Given the description of an element on the screen output the (x, y) to click on. 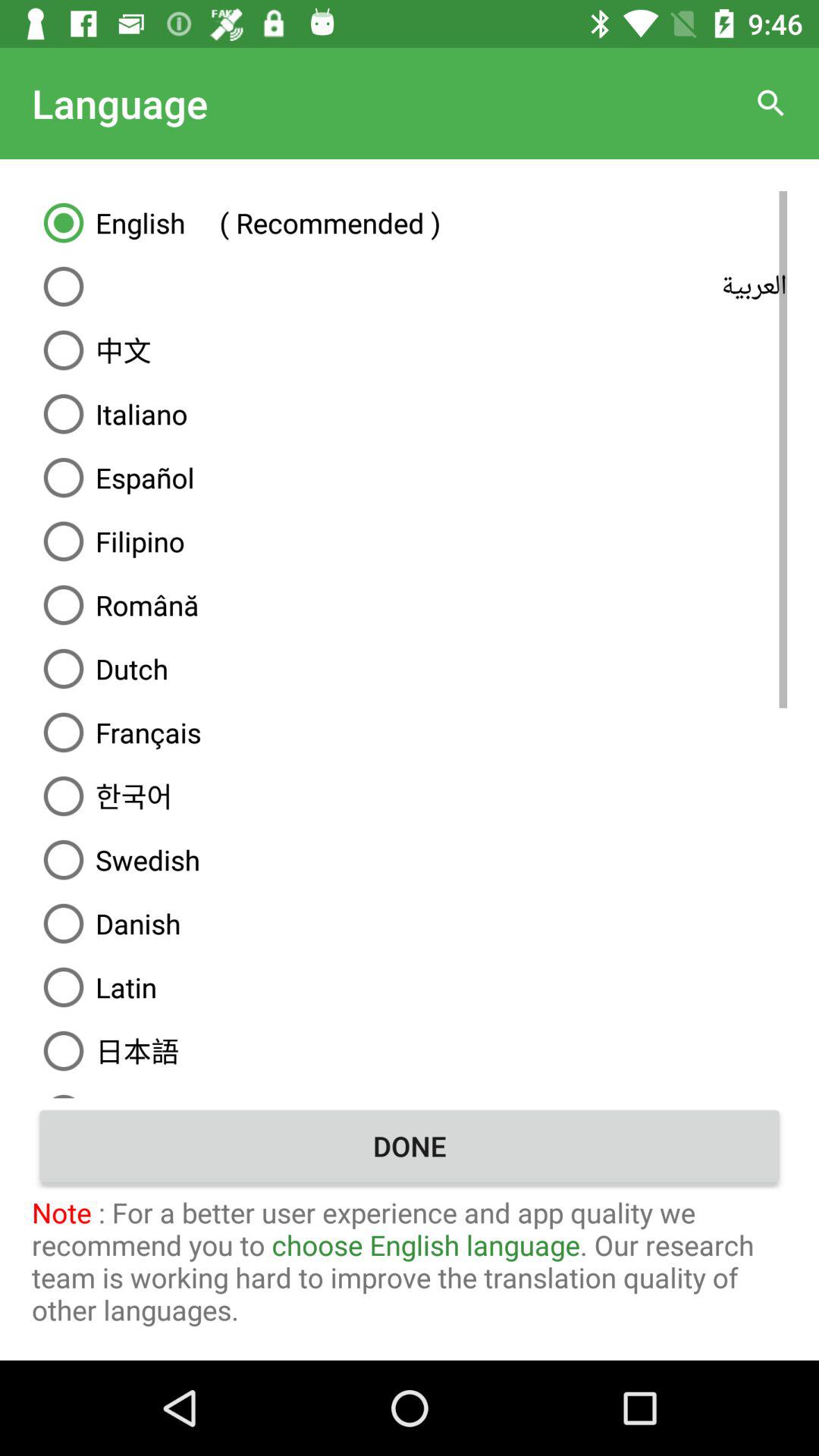
turn off english     ( recommended ) icon (409, 222)
